Given the description of an element on the screen output the (x, y) to click on. 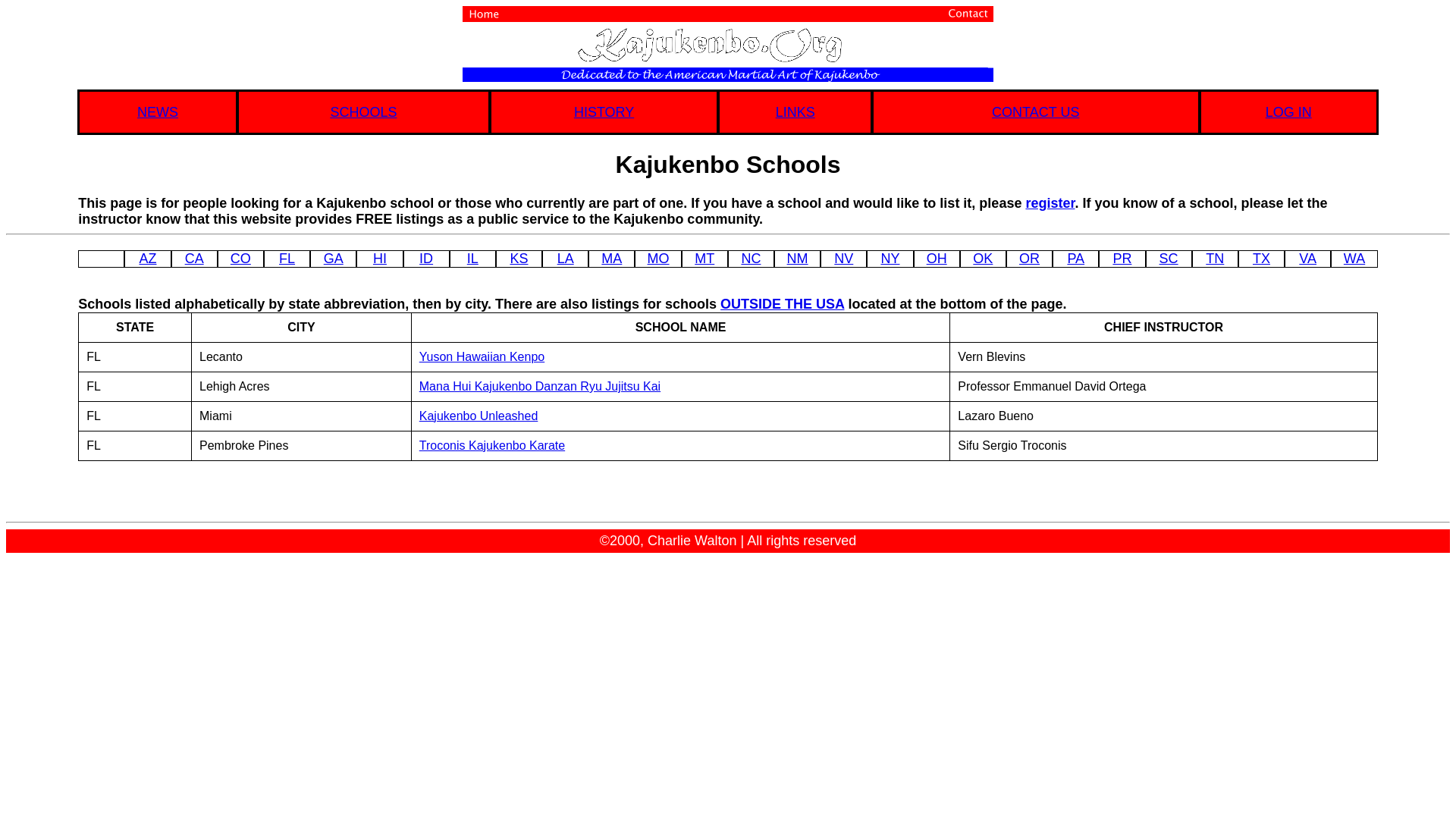
NV (843, 258)
VA (1307, 258)
KS (518, 258)
NM (797, 258)
WA (1354, 258)
PA (1075, 258)
NY (889, 258)
Mana Hui Kajukenbo Danzan Ryu Jujitsu Kai (540, 386)
CONTACT US (1035, 111)
GA (333, 258)
HI (379, 258)
MA (611, 258)
TX (1260, 258)
NC (750, 258)
OR (1029, 258)
